Given the description of an element on the screen output the (x, y) to click on. 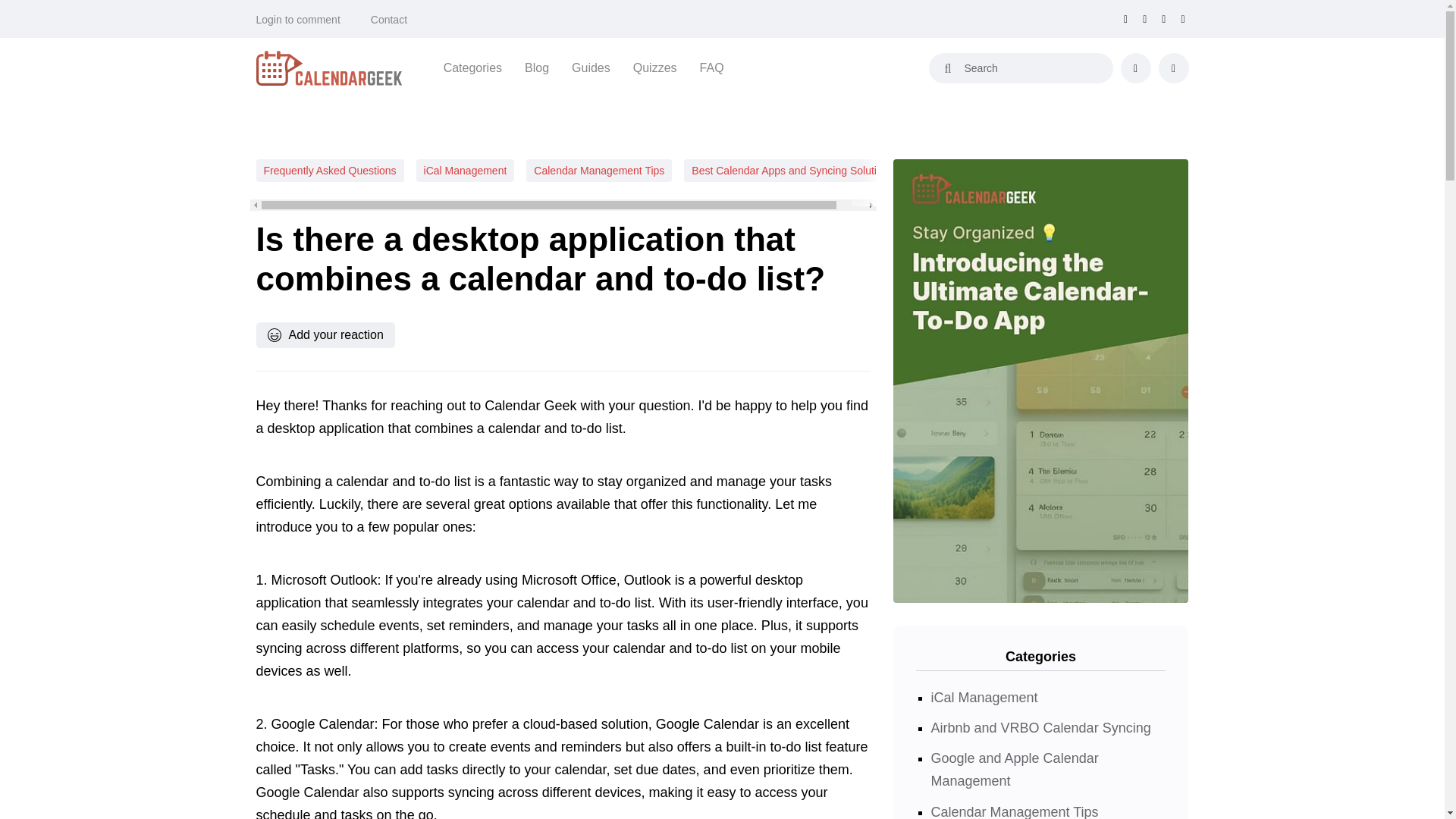
Categories (473, 67)
Contact (389, 19)
Login to comment (298, 19)
